Given the description of an element on the screen output the (x, y) to click on. 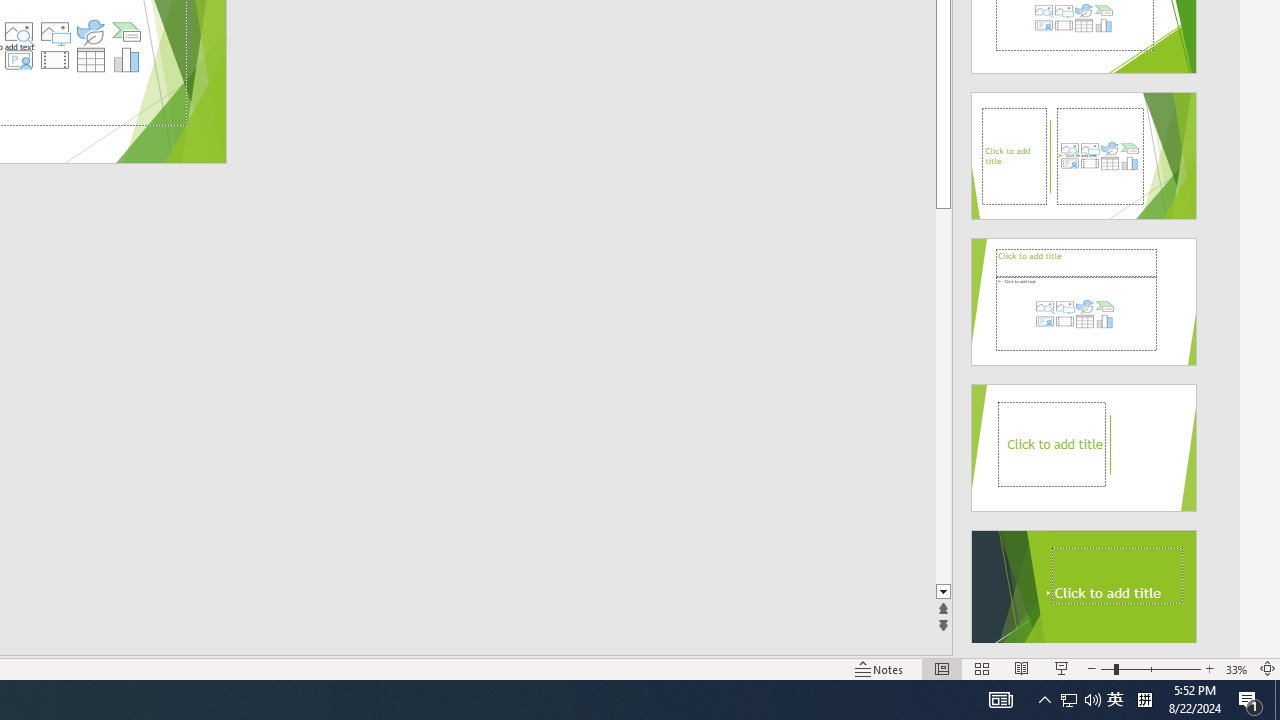
Insert Chart (127, 60)
